Given the description of an element on the screen output the (x, y) to click on. 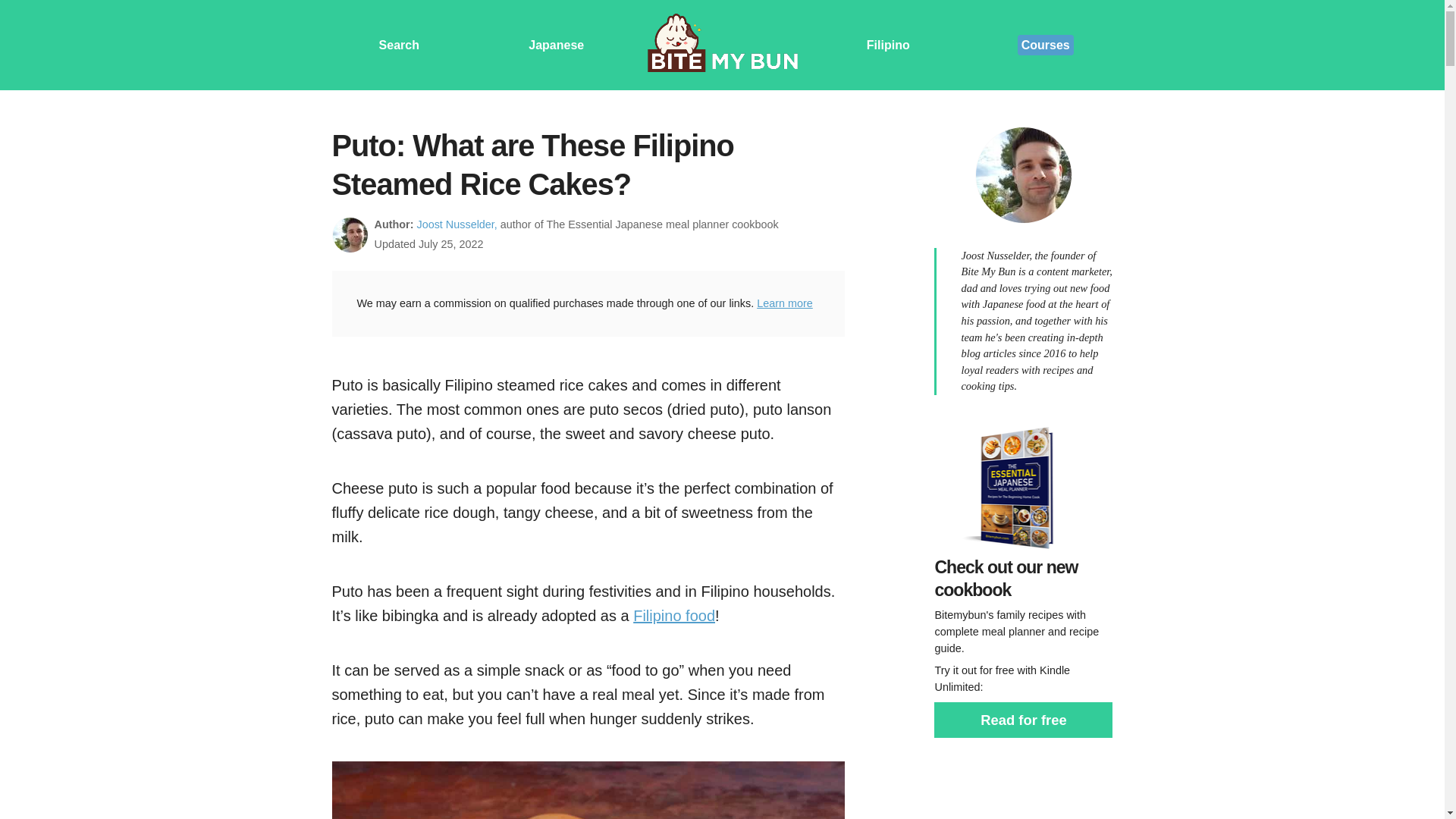
Courses (1045, 45)
Japanese (555, 43)
Search (398, 43)
Joost Nusselder, (456, 224)
Filipino (888, 43)
Learn more (784, 303)
Filipino dish (673, 615)
Logo (721, 44)
Filipino food (673, 615)
